Given the description of an element on the screen output the (x, y) to click on. 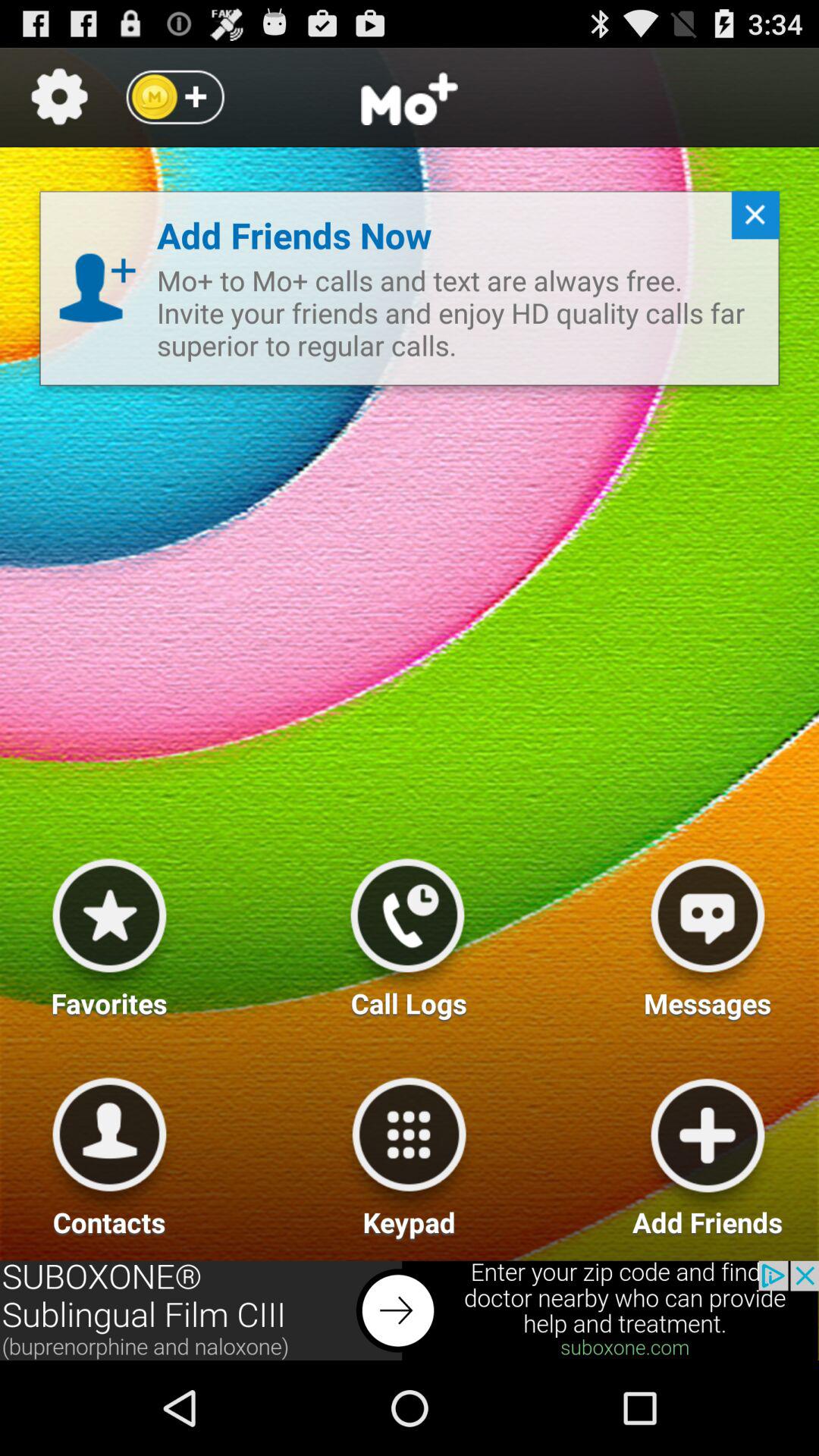
go to favorites (109, 932)
